Given the description of an element on the screen output the (x, y) to click on. 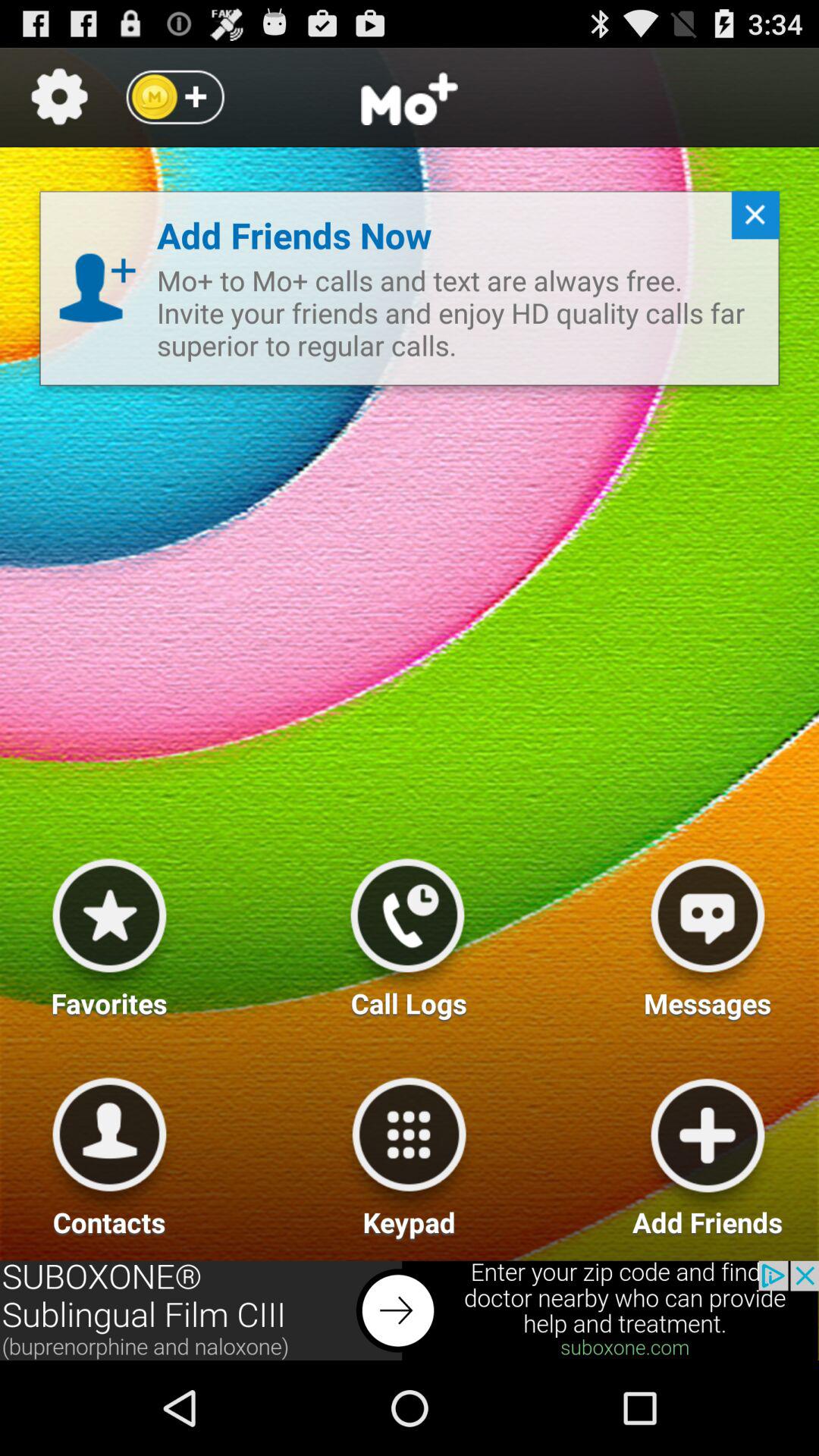
go to favorites (109, 932)
